Given the description of an element on the screen output the (x, y) to click on. 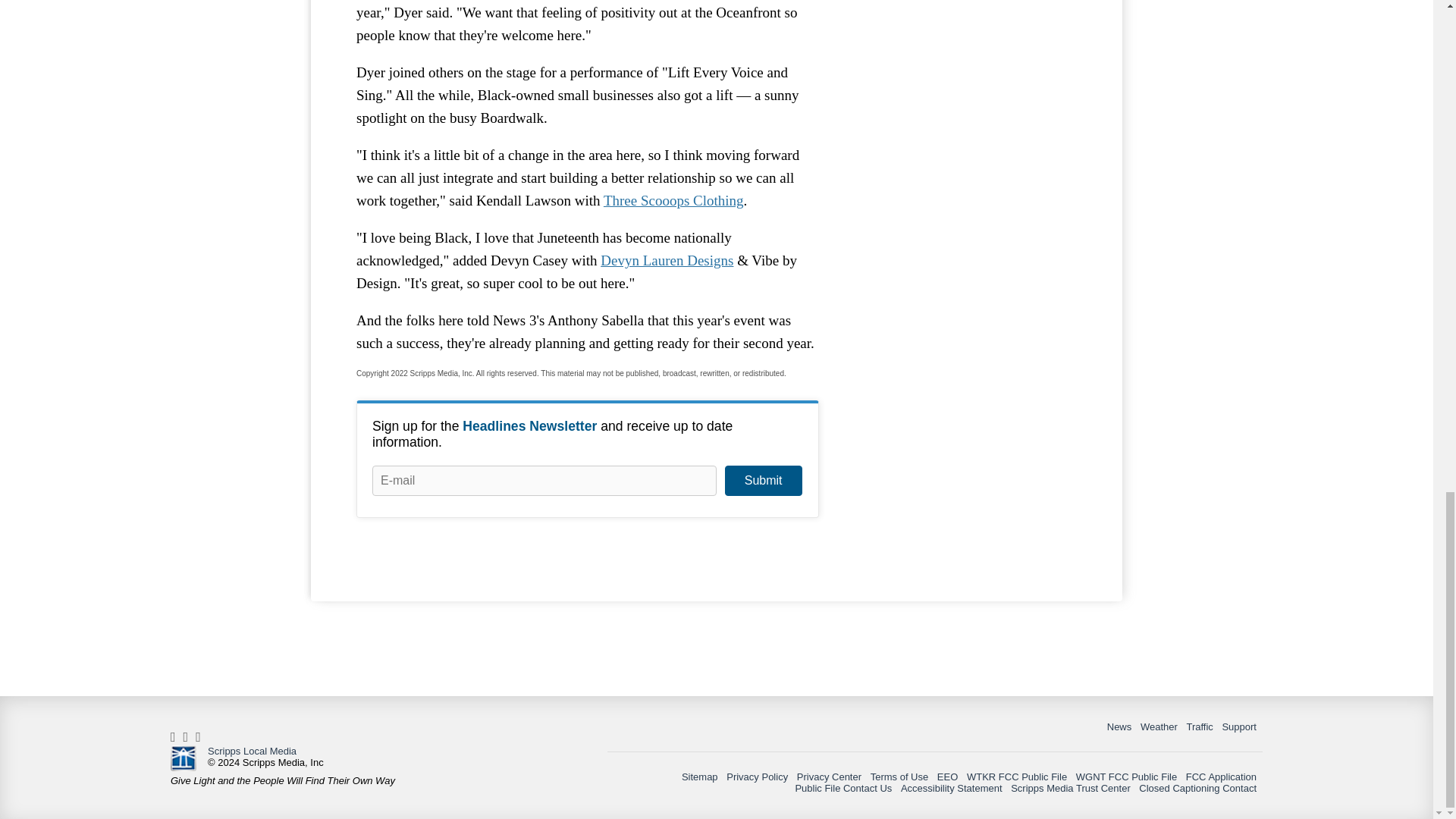
Submit (763, 481)
